Given the description of an element on the screen output the (x, y) to click on. 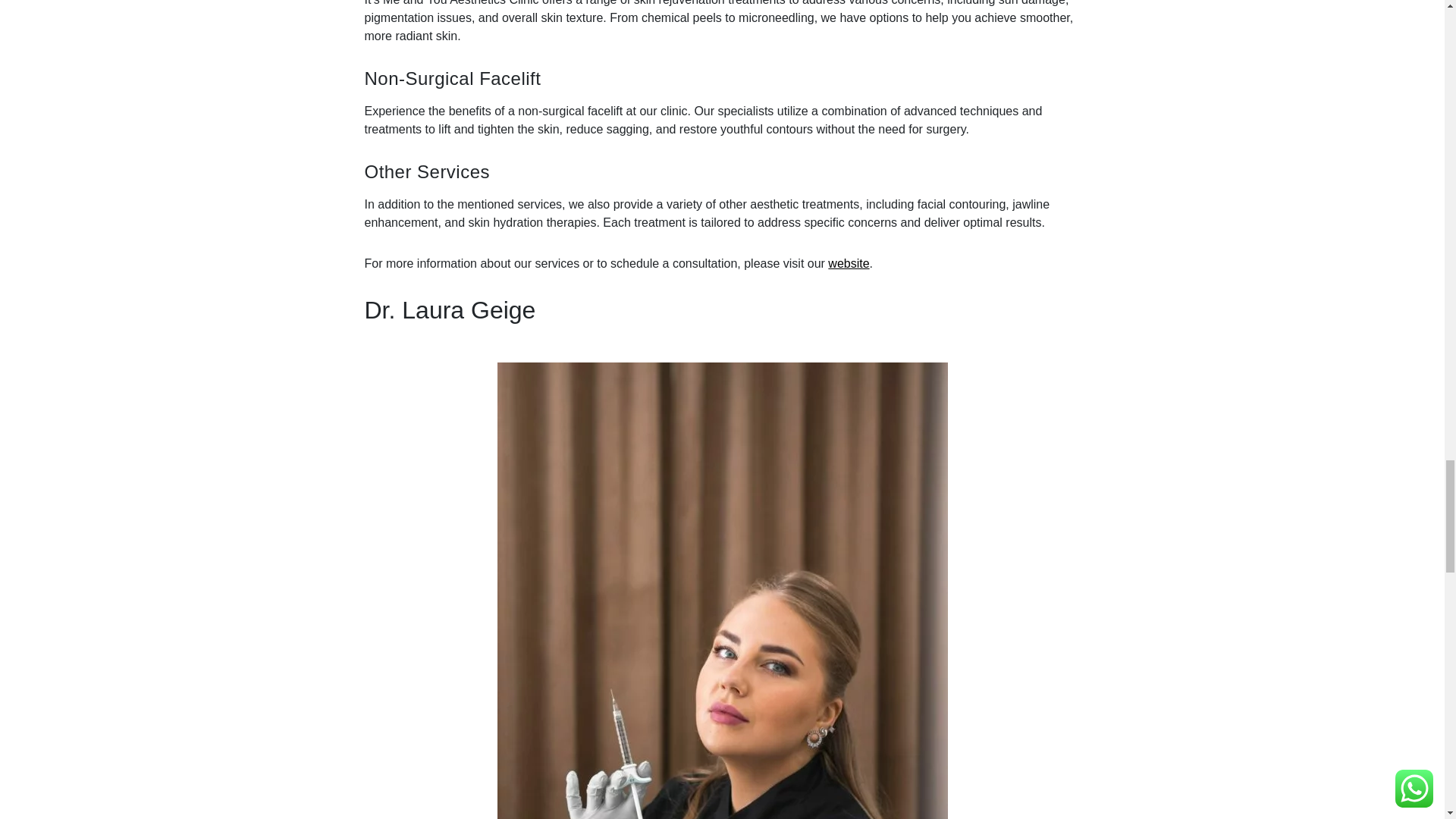
website (848, 263)
